Given the description of an element on the screen output the (x, y) to click on. 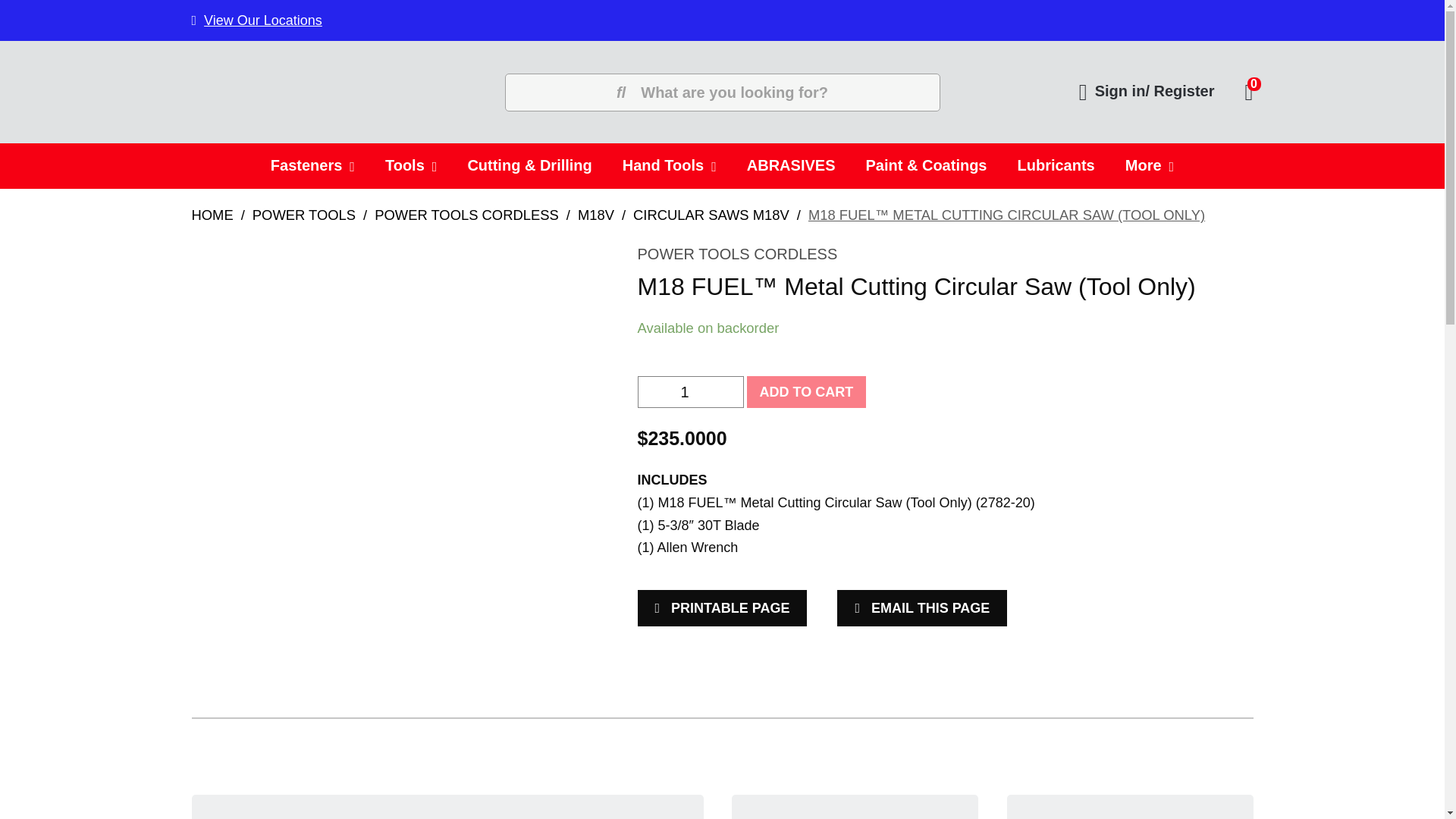
1 (689, 391)
American Fastener Corp (389, 173)
Hand Tools (669, 166)
What are you looking for? (722, 91)
Fasteners (312, 166)
Qty (689, 391)
Tools (410, 166)
View Our Locations (1233, 90)
